Given the description of an element on the screen output the (x, y) to click on. 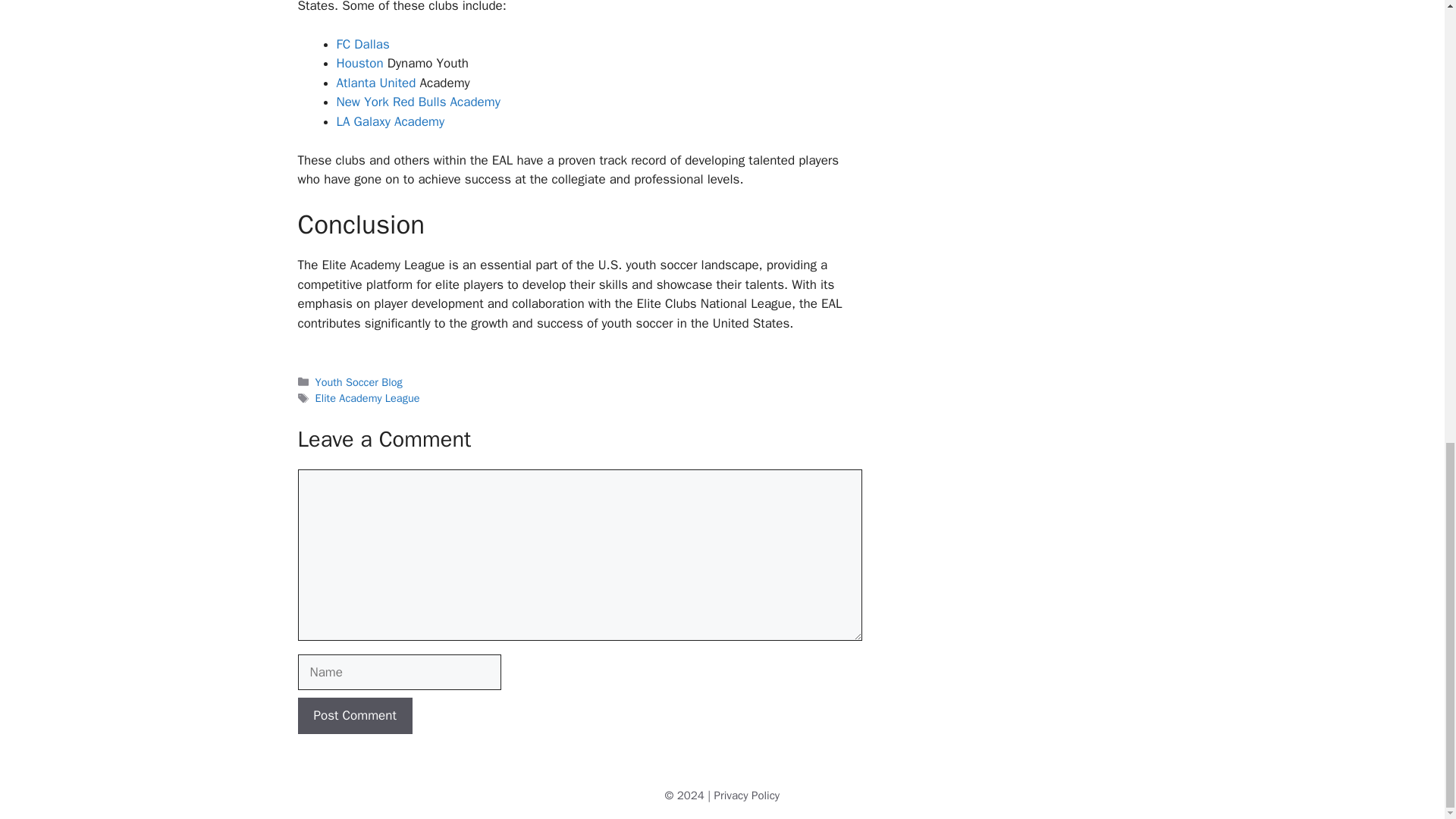
Houston (360, 63)
Privacy Policy (747, 795)
Post Comment (354, 715)
New York Red Bulls Academy (418, 101)
LA Galaxy Academy (390, 121)
Youth Soccer Blog (359, 382)
Elite Academy League (367, 397)
FC Dallas (363, 44)
Atlanta United (376, 82)
Post Comment (354, 715)
